Given the description of an element on the screen output the (x, y) to click on. 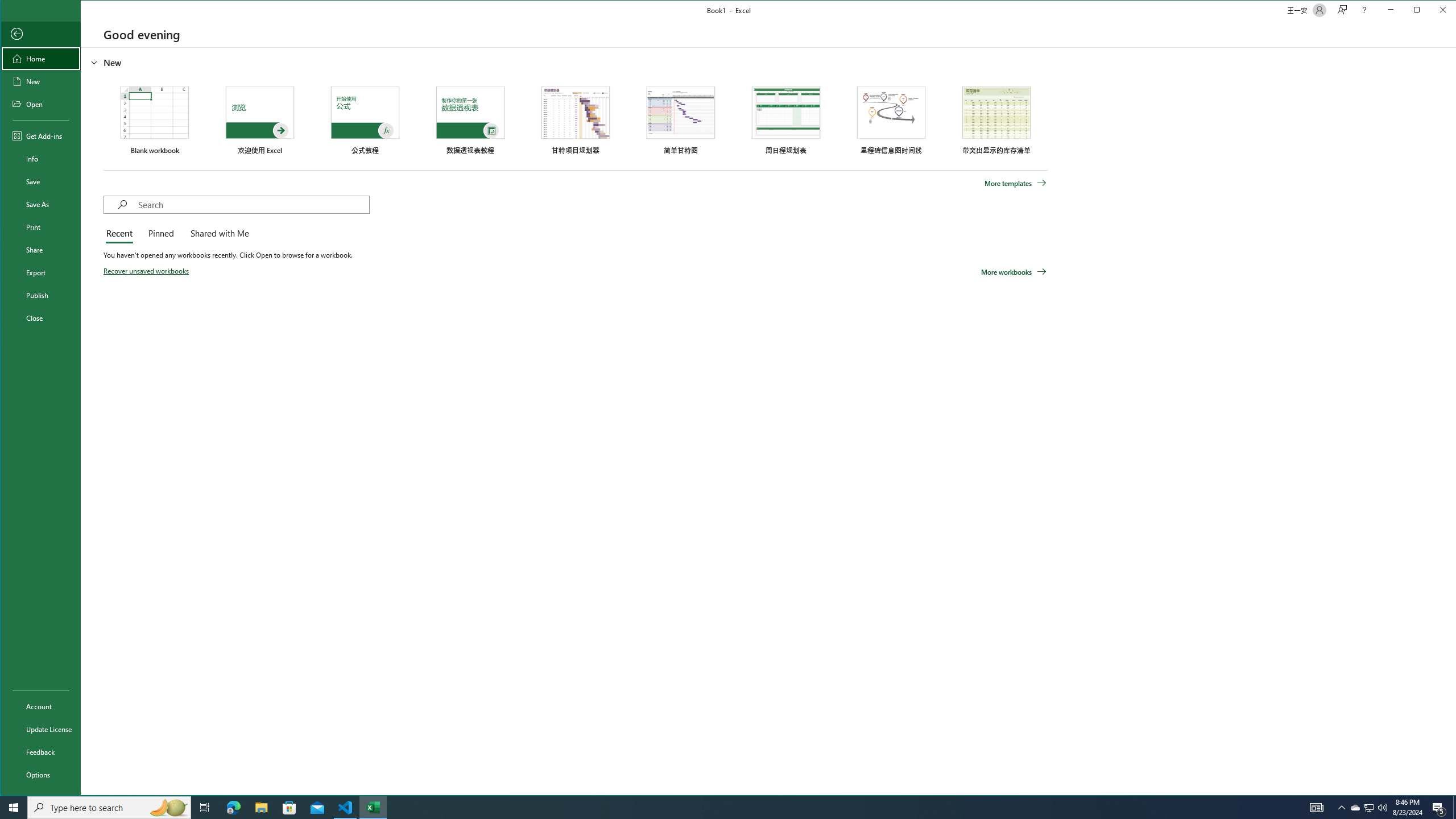
Type here to search (108, 807)
User Promoted Notification Area (1368, 807)
Update License (40, 728)
Shared with Me (217, 234)
Hide or show region (94, 62)
New (40, 80)
File Explorer (261, 807)
Info (40, 158)
Blank workbook (154, 119)
Account (40, 706)
